Given the description of an element on the screen output the (x, y) to click on. 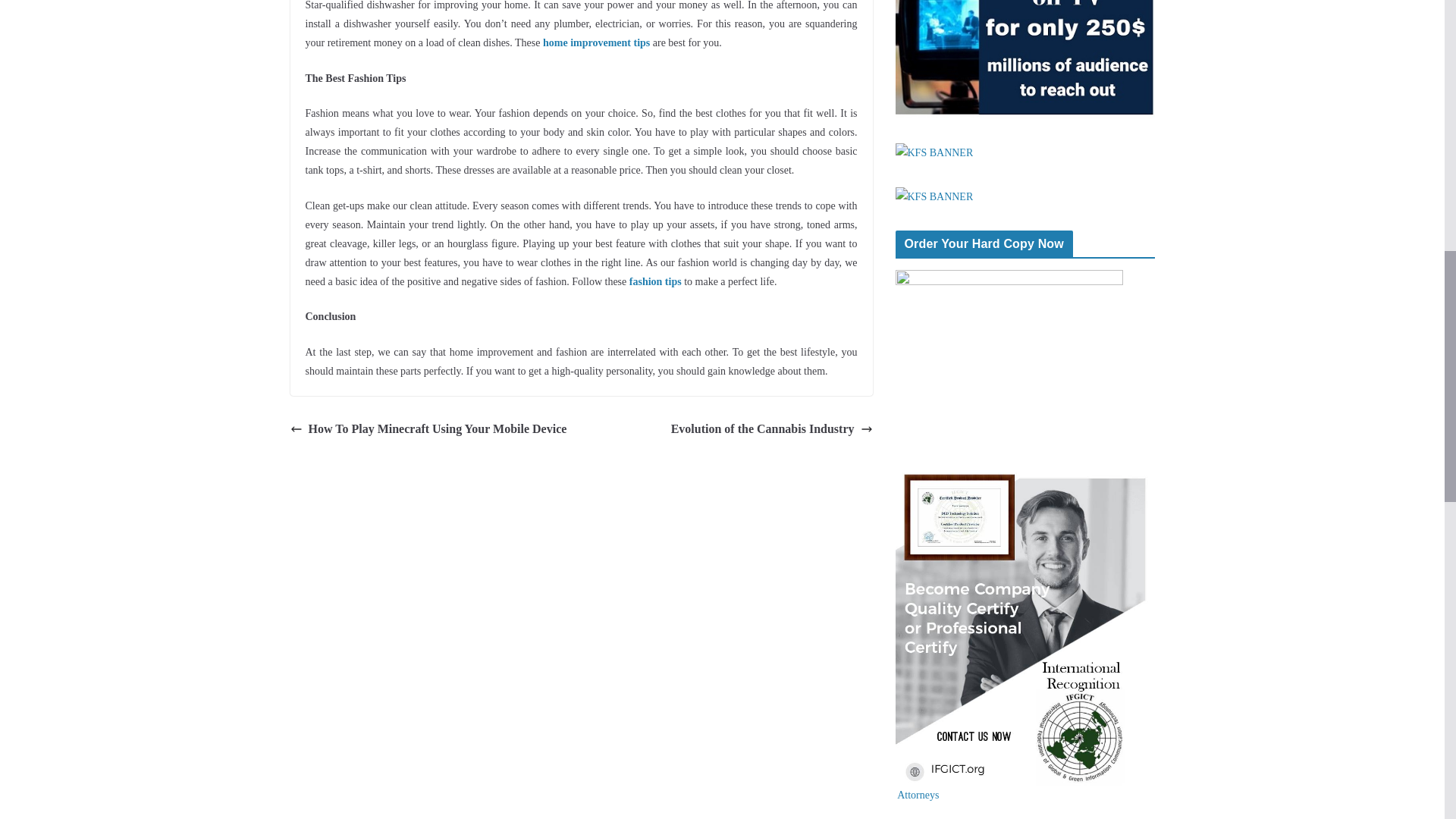
home improvement tips (597, 42)
 Attorneys (917, 794)
fashion tips (654, 281)
How To Play Minecraft Using Your Mobile Device (427, 429)
Evolution of the Cannabis Industry (771, 429)
